Given the description of an element on the screen output the (x, y) to click on. 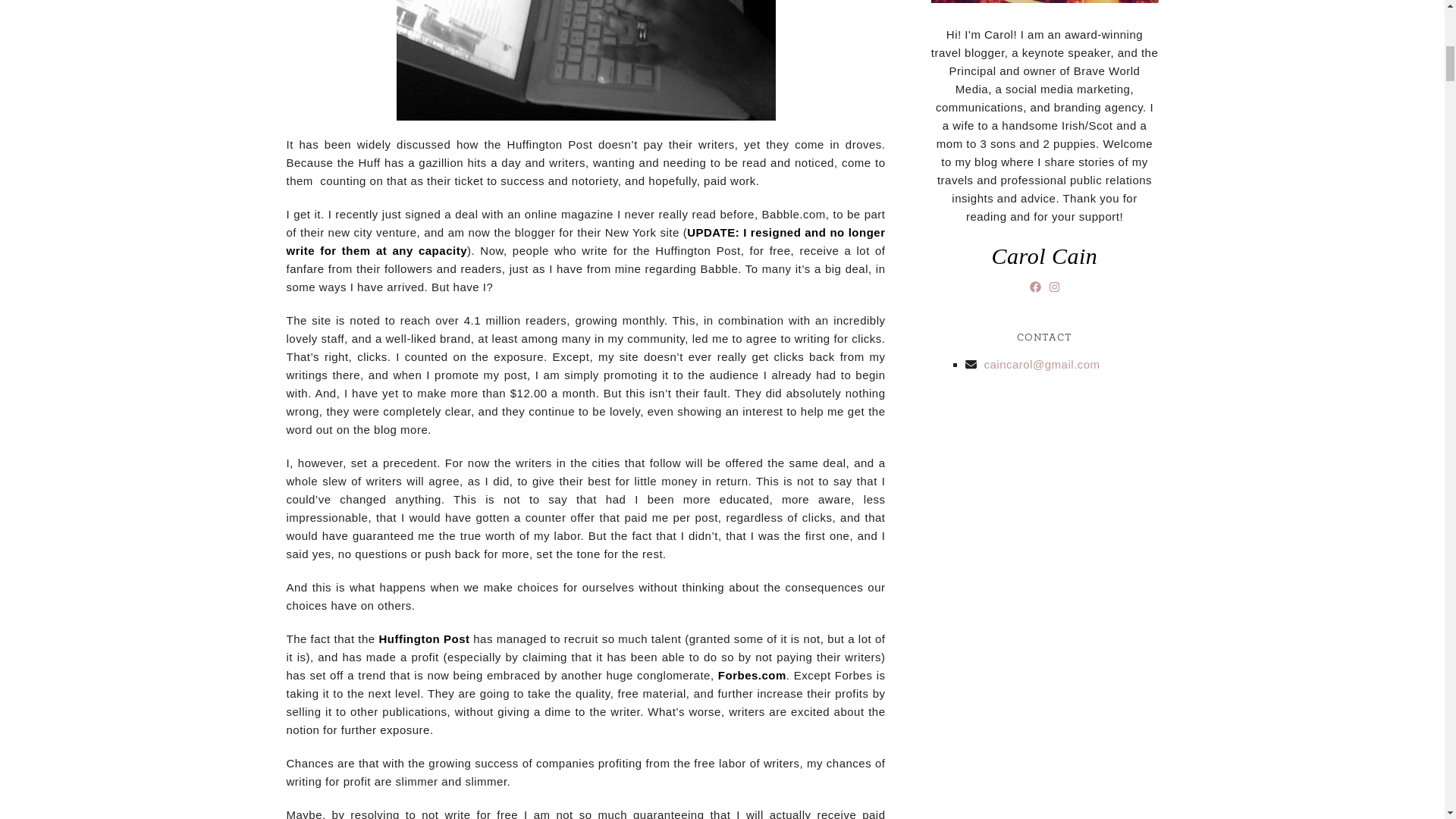
Back Camera (585, 60)
Forbes.com (751, 675)
